Given the description of an element on the screen output the (x, y) to click on. 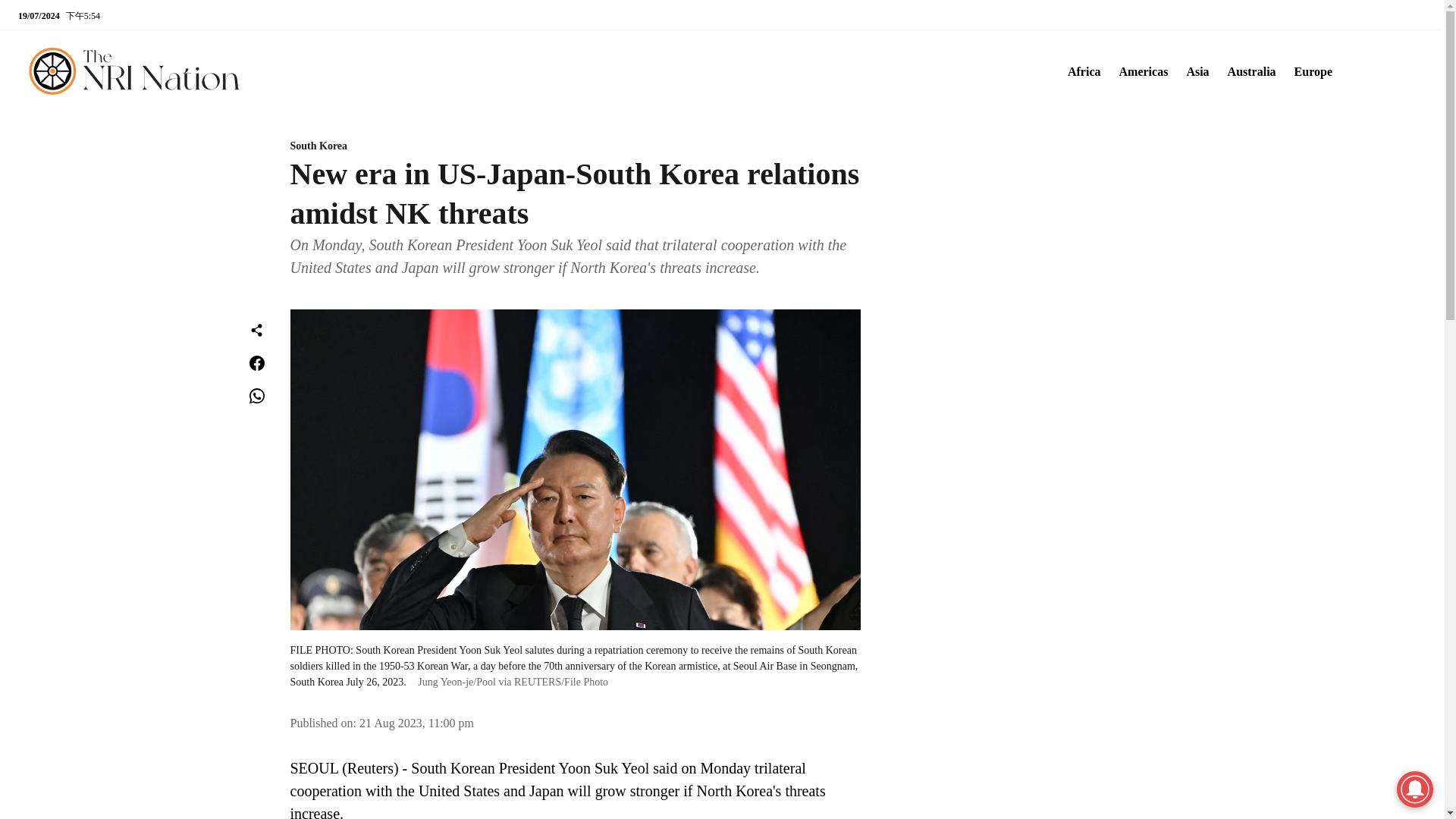
2023-08-21 15:00 (416, 722)
South Korea (574, 146)
Africa (1079, 71)
Australia (1247, 71)
Americas (1139, 71)
Europe (1308, 71)
Asia (1192, 71)
